Given the description of an element on the screen output the (x, y) to click on. 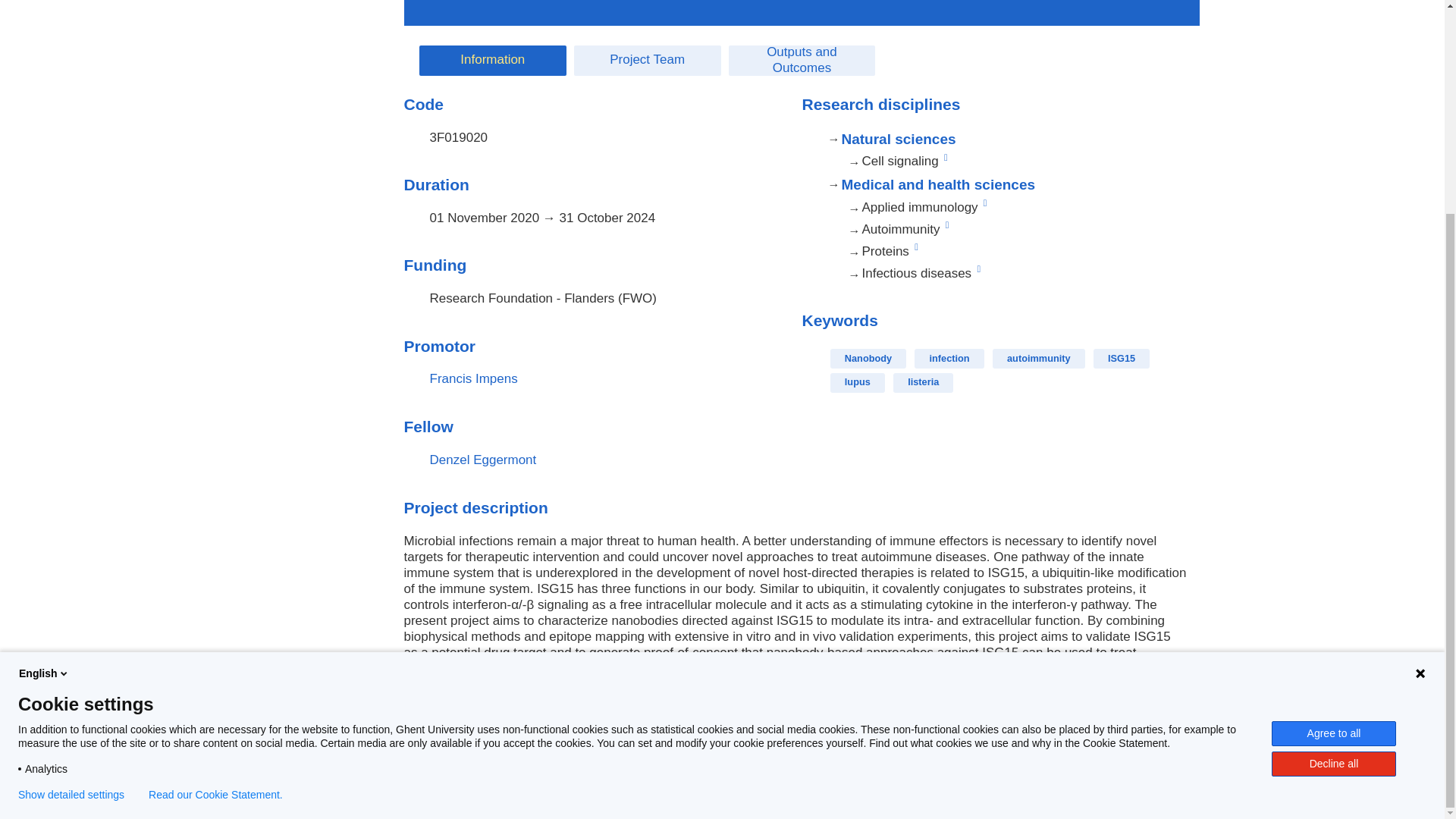
Project Team (646, 60)
Show detailed settings (70, 515)
Cookies (836, 771)
Disclaimer (777, 771)
Facebook (272, 784)
Outputs and Outcomes (802, 60)
Outputs and Outcomes (802, 60)
Twitter (301, 784)
LinkedIn (329, 784)
Francis Impens (472, 378)
Decline all (1333, 484)
Agree to all (1333, 454)
Instagram (387, 784)
Information (492, 60)
Project Information (492, 60)
